Given the description of an element on the screen output the (x, y) to click on. 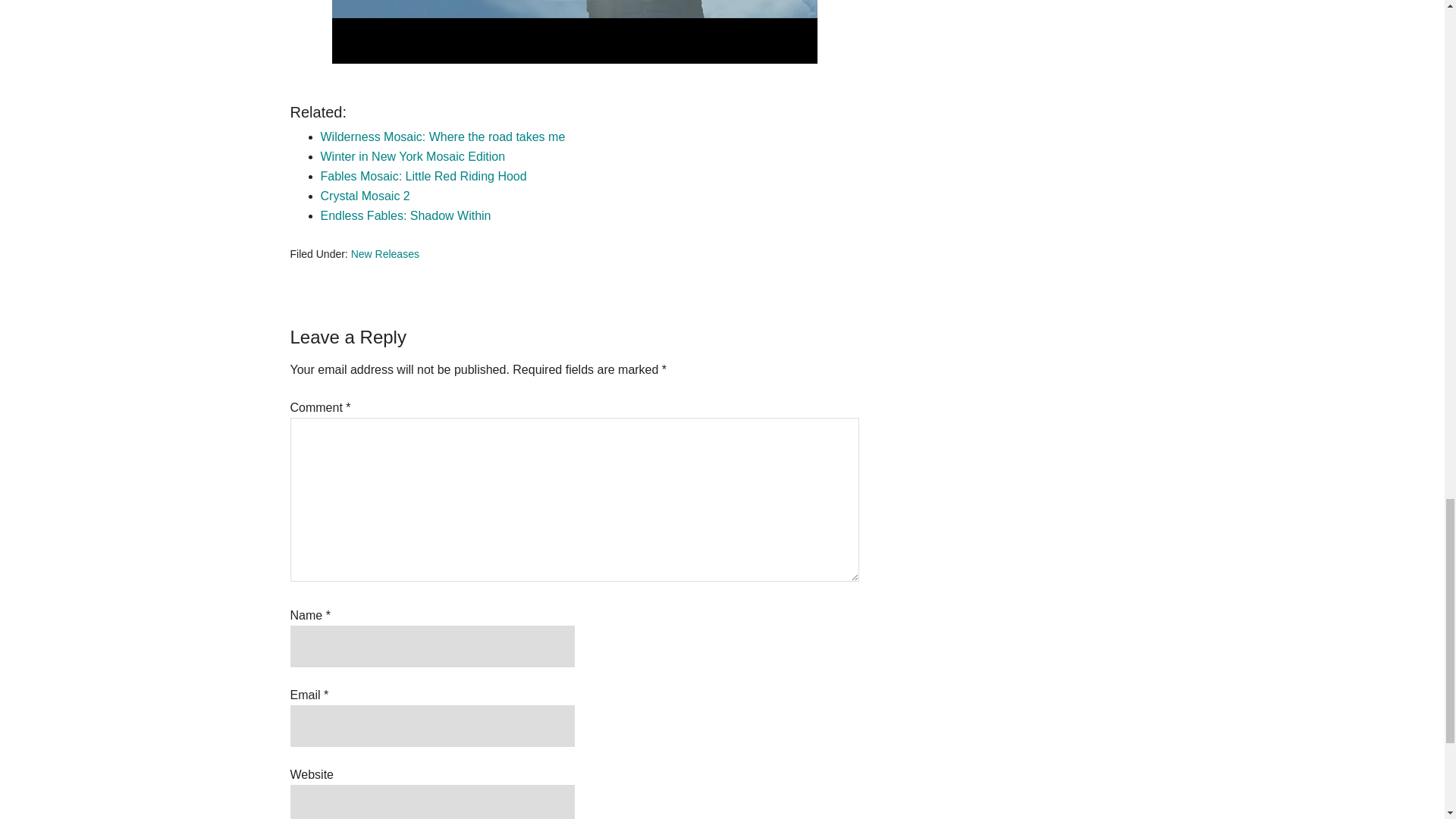
Fables Mosaic: Little Red Riding Hood (422, 175)
Winter in New York Mosaic Edition (412, 155)
New Releases (384, 254)
Fables Mosaic: Little Red Riding Hood (422, 175)
Wilderness Mosaic: Where the road takes me (442, 136)
Crystal Mosaic 2 (364, 195)
Crystal Mosaic 2 (364, 195)
Endless Fables: Shadow Within (405, 215)
Endless Fables: Shadow Within (405, 215)
Winter in New York Mosaic Edition (412, 155)
